Given the description of an element on the screen output the (x, y) to click on. 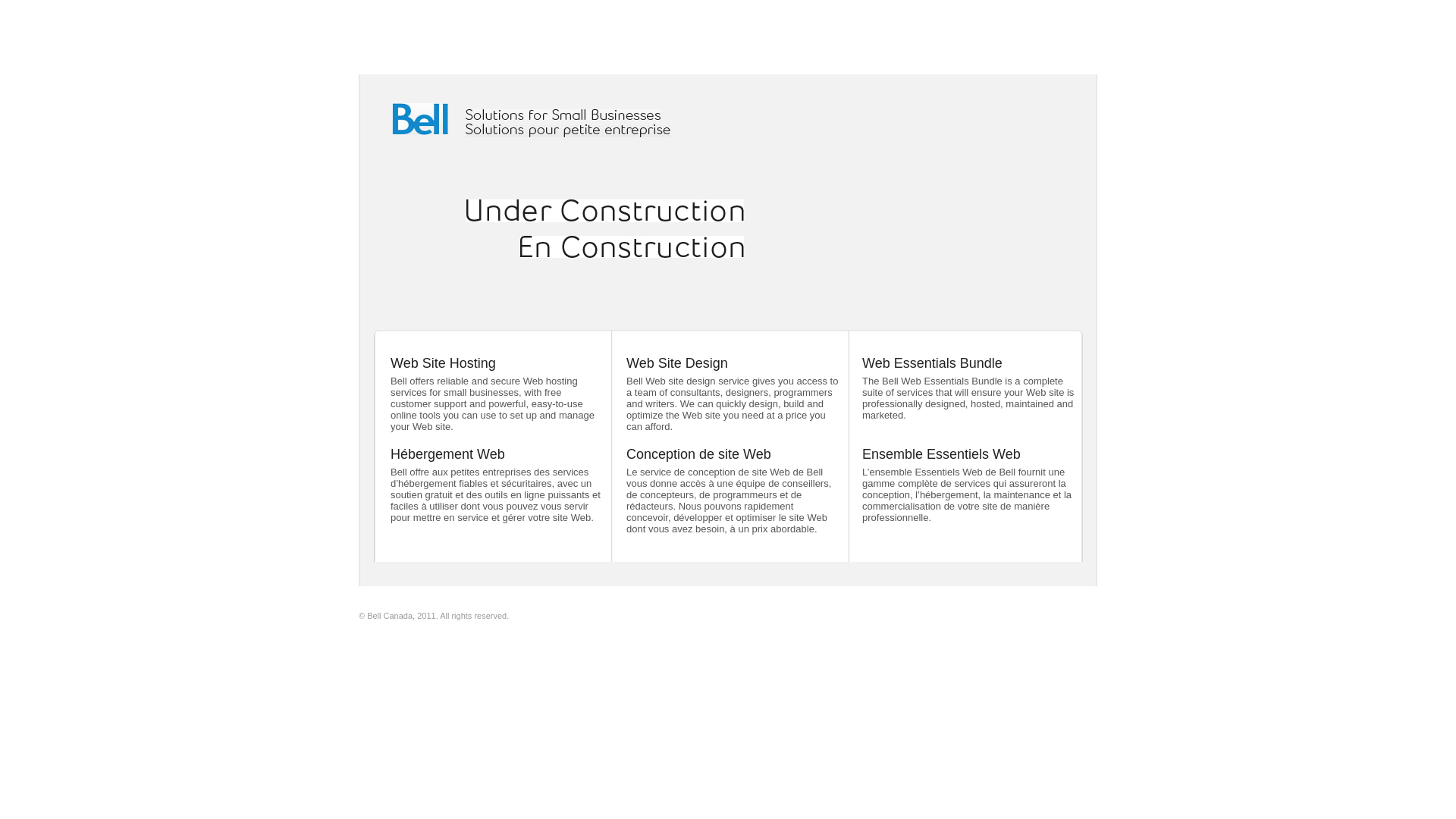
Under Construction Element type: hover (604, 210)
Solutions pour petite entreprise Element type: hover (567, 130)
Bell Element type: hover (420, 118)
Solutions for Small Businesses Element type: hover (562, 114)
En Construction Element type: hover (631, 246)
